Given the description of an element on the screen output the (x, y) to click on. 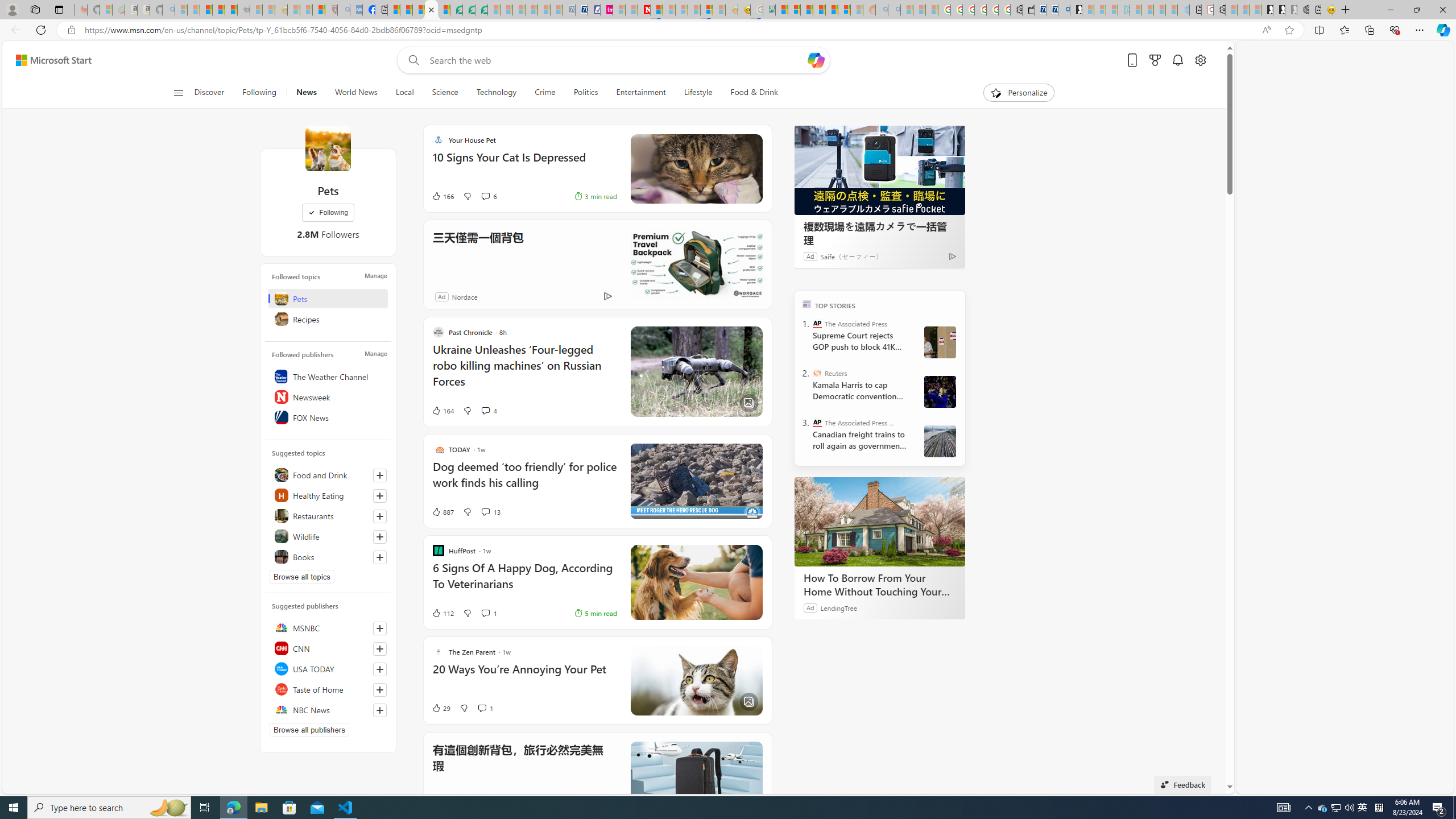
Taste of Home (327, 688)
Manage (375, 353)
Reuters (816, 372)
View comments 13 Comment (485, 511)
